Given the description of an element on the screen output the (x, y) to click on. 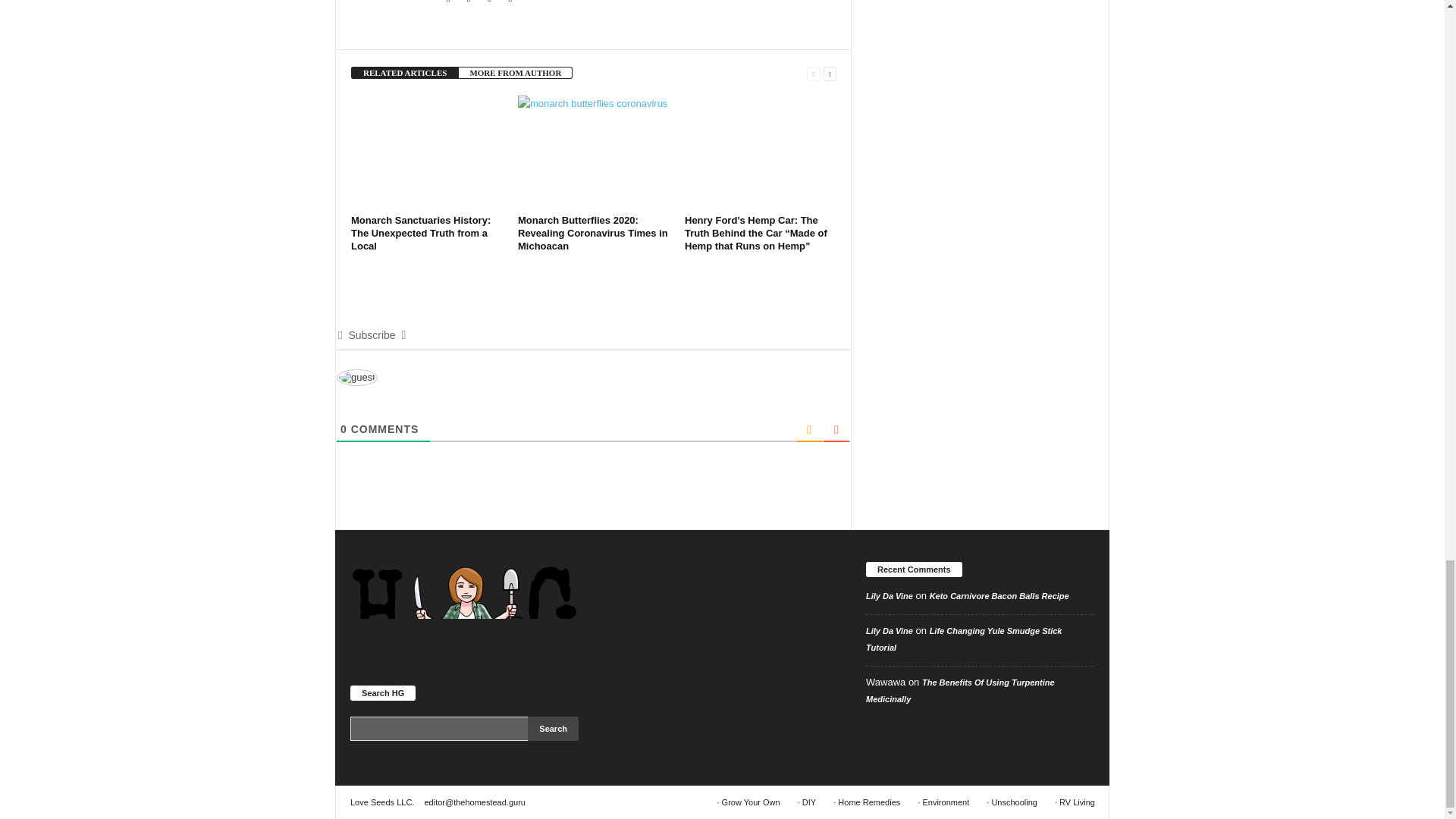
Search (552, 728)
